Given the description of an element on the screen output the (x, y) to click on. 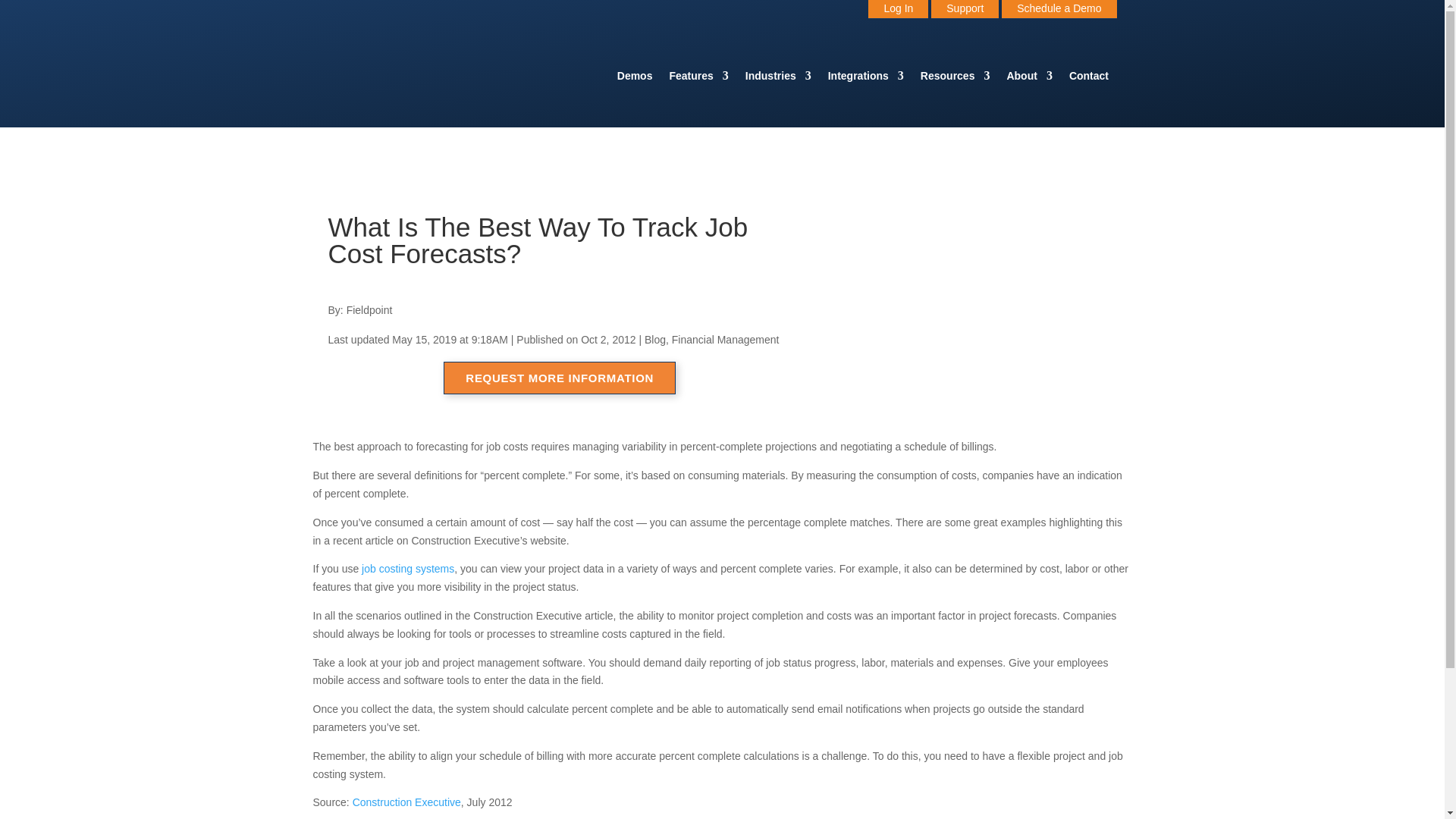
Features (698, 78)
Industries (777, 78)
Schedule a Demo (1058, 9)
Log In (897, 9)
Demos (634, 78)
Schedule a Demo (1058, 9)
Support (964, 9)
Support (964, 9)
Integrations (866, 78)
